Given the description of an element on the screen output the (x, y) to click on. 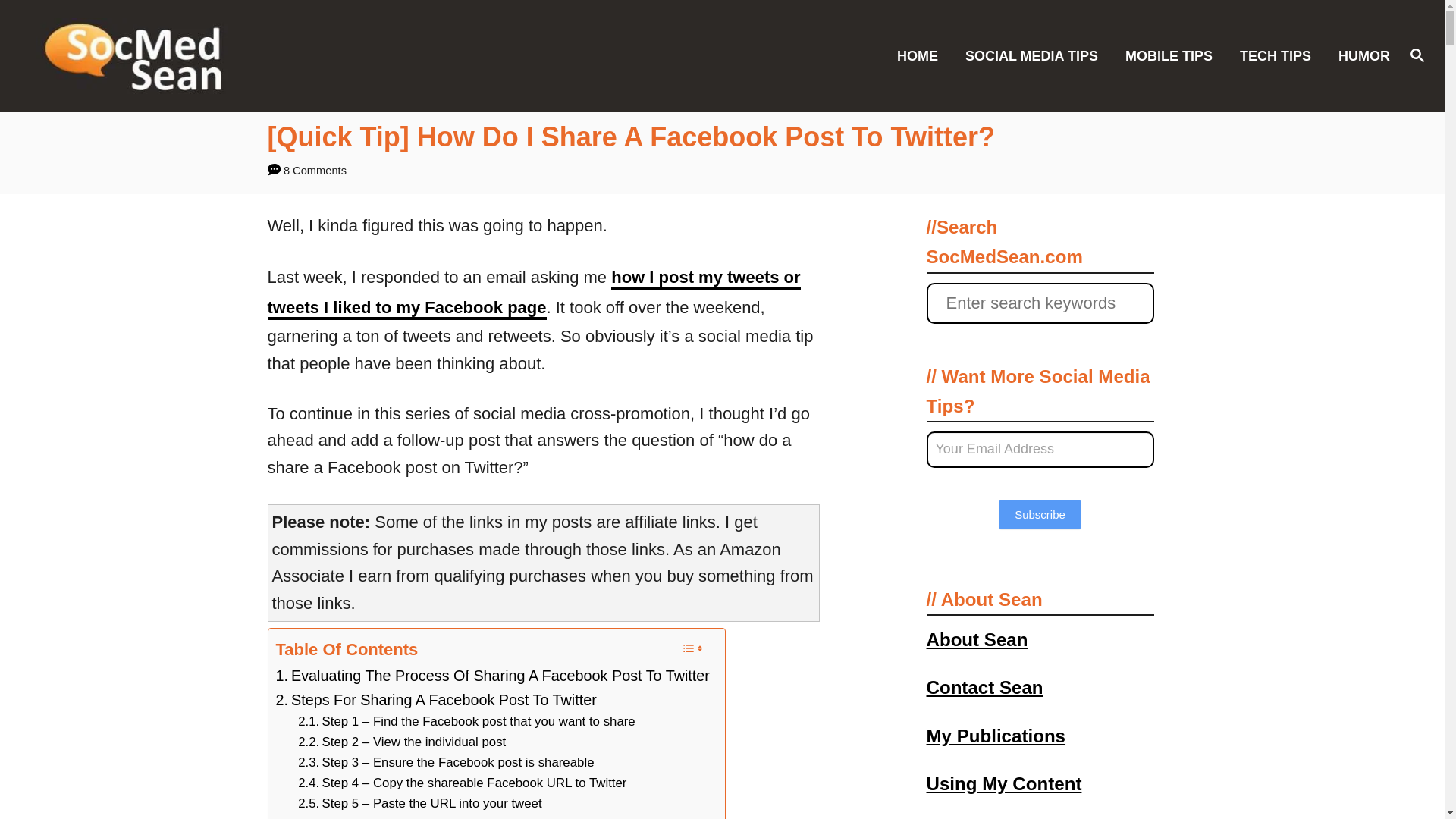
Magnifying Glass (1416, 54)
Steps For Sharing A Facebook Post To Twitter (436, 700)
HUMOR (1359, 55)
SOCIAL MEDIA TIPS (1036, 55)
HOME (922, 55)
Evaluating The Process Of Sharing A Facebook Post To Twitter (493, 676)
Evaluating The Process Of Sharing A Facebook Post To Twitter (493, 676)
TECH TIPS (1279, 55)
SocMedSean - Social Media Sean (204, 56)
MOBILE TIPS (1173, 55)
Steps For Sharing A Facebook Post To Twitter (436, 700)
how I post my tweets or tweets I liked to my Facebook page (532, 293)
